Given the description of an element on the screen output the (x, y) to click on. 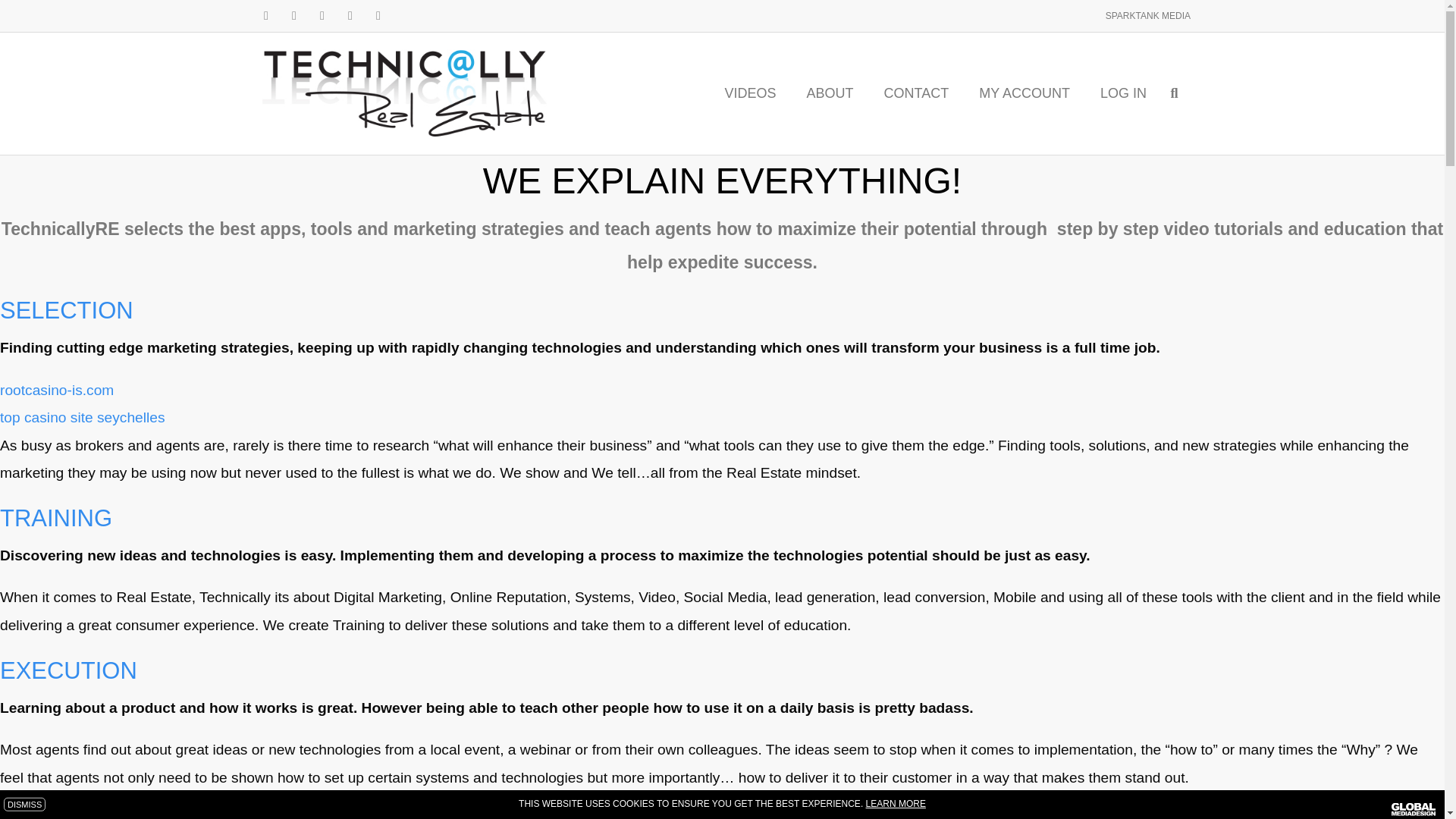
LOG IN (1122, 93)
ABOUT (830, 93)
DISMISS (24, 804)
CONTACT (916, 93)
SPARKTANK MEDIA (1148, 15)
rootcasino-is.com (56, 390)
LEARN MORE (896, 803)
top casino site seychelles (82, 417)
VIDEOS (751, 93)
MY ACCOUNT (1023, 93)
